Given the description of an element on the screen output the (x, y) to click on. 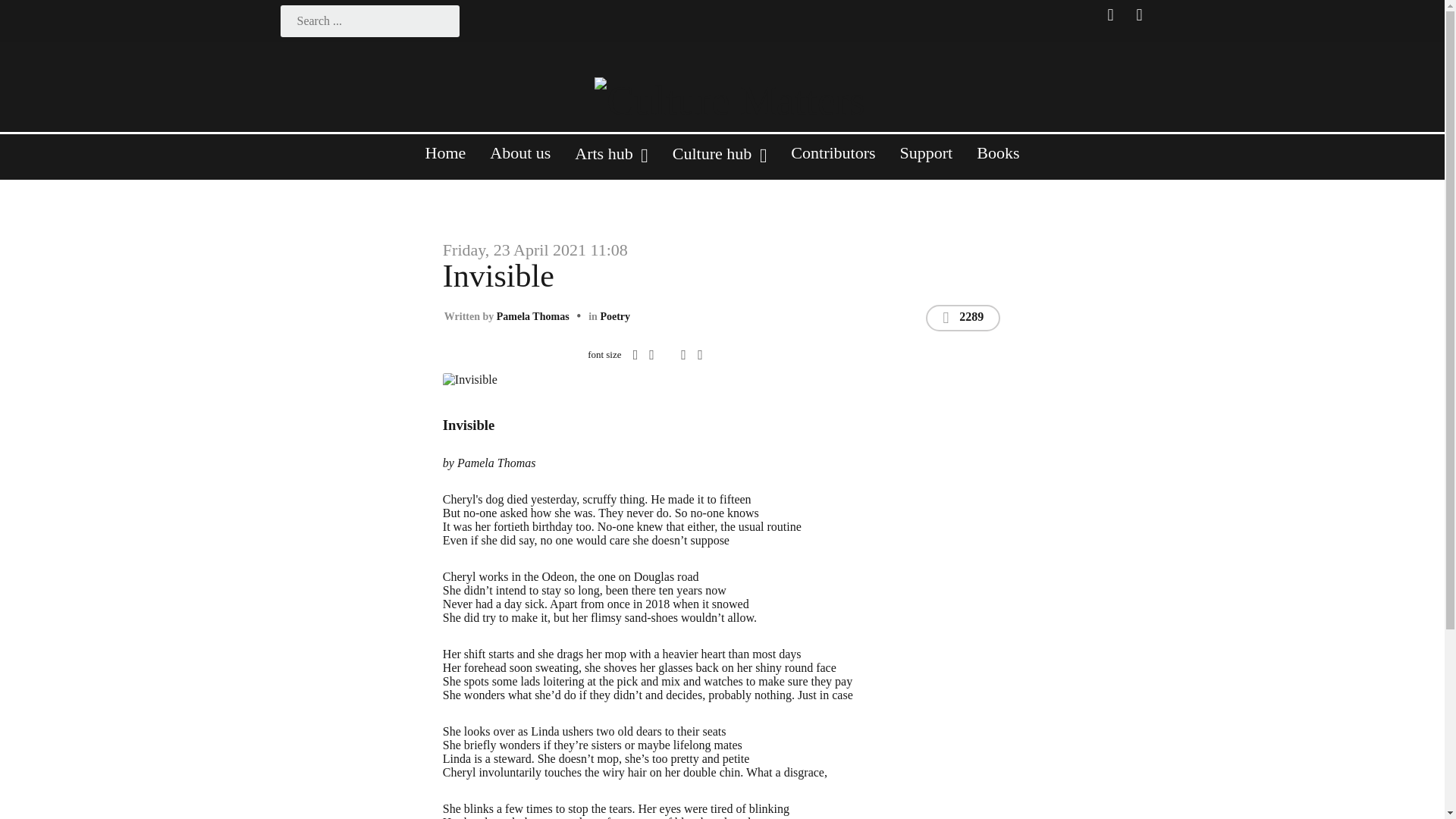
Arts hub (610, 160)
About us (519, 159)
Print (683, 354)
Home (446, 159)
Email (699, 354)
Click to preview image (632, 378)
Culture hub (719, 160)
